Given the description of an element on the screen output the (x, y) to click on. 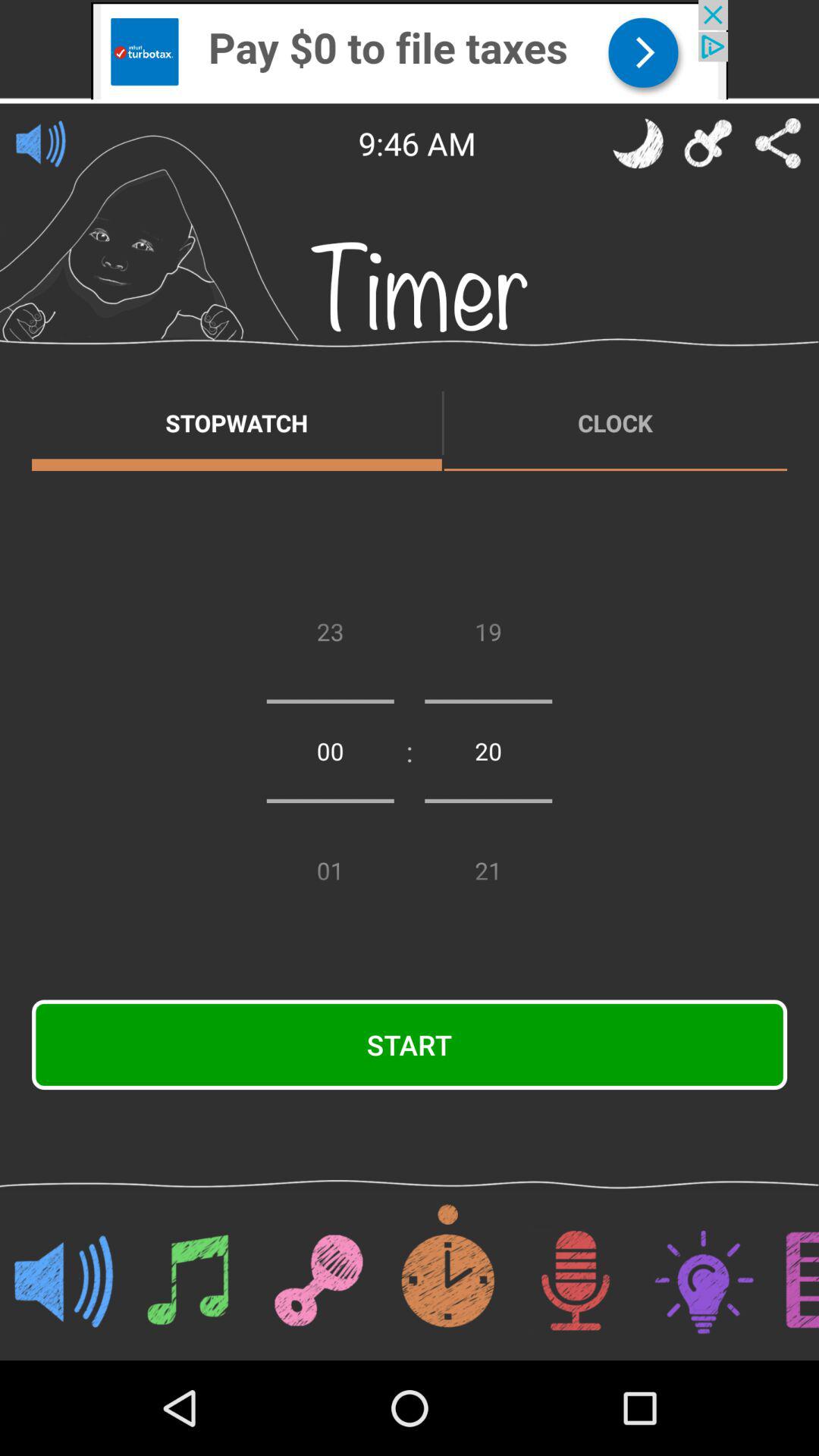
noturn mode (638, 143)
